Given the description of an element on the screen output the (x, y) to click on. 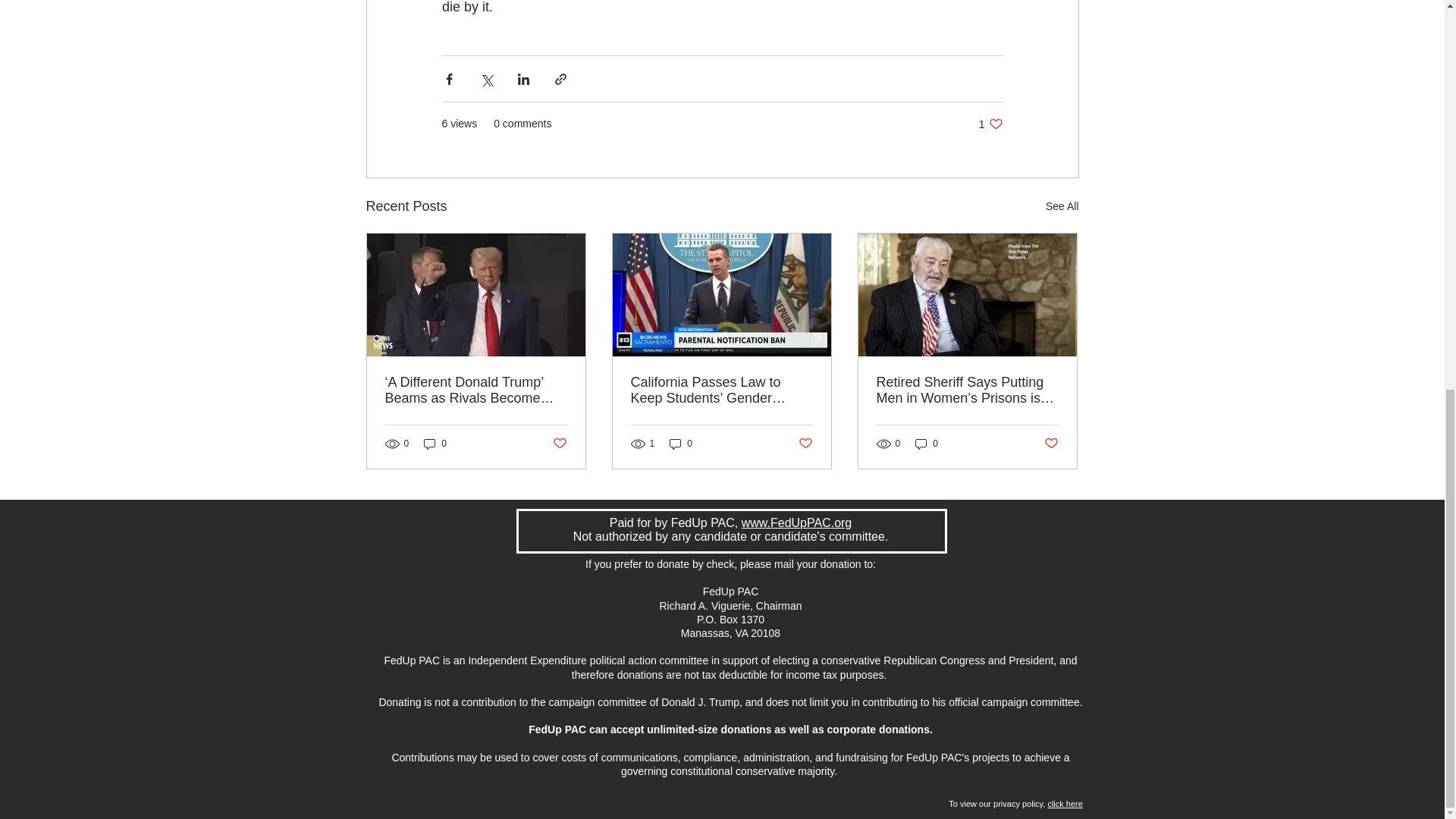
0 (435, 443)
Post not marked as liked (1050, 442)
0 (926, 443)
0 (990, 124)
Post not marked as liked (681, 443)
Post not marked as liked (558, 442)
See All (804, 442)
